Given the description of an element on the screen output the (x, y) to click on. 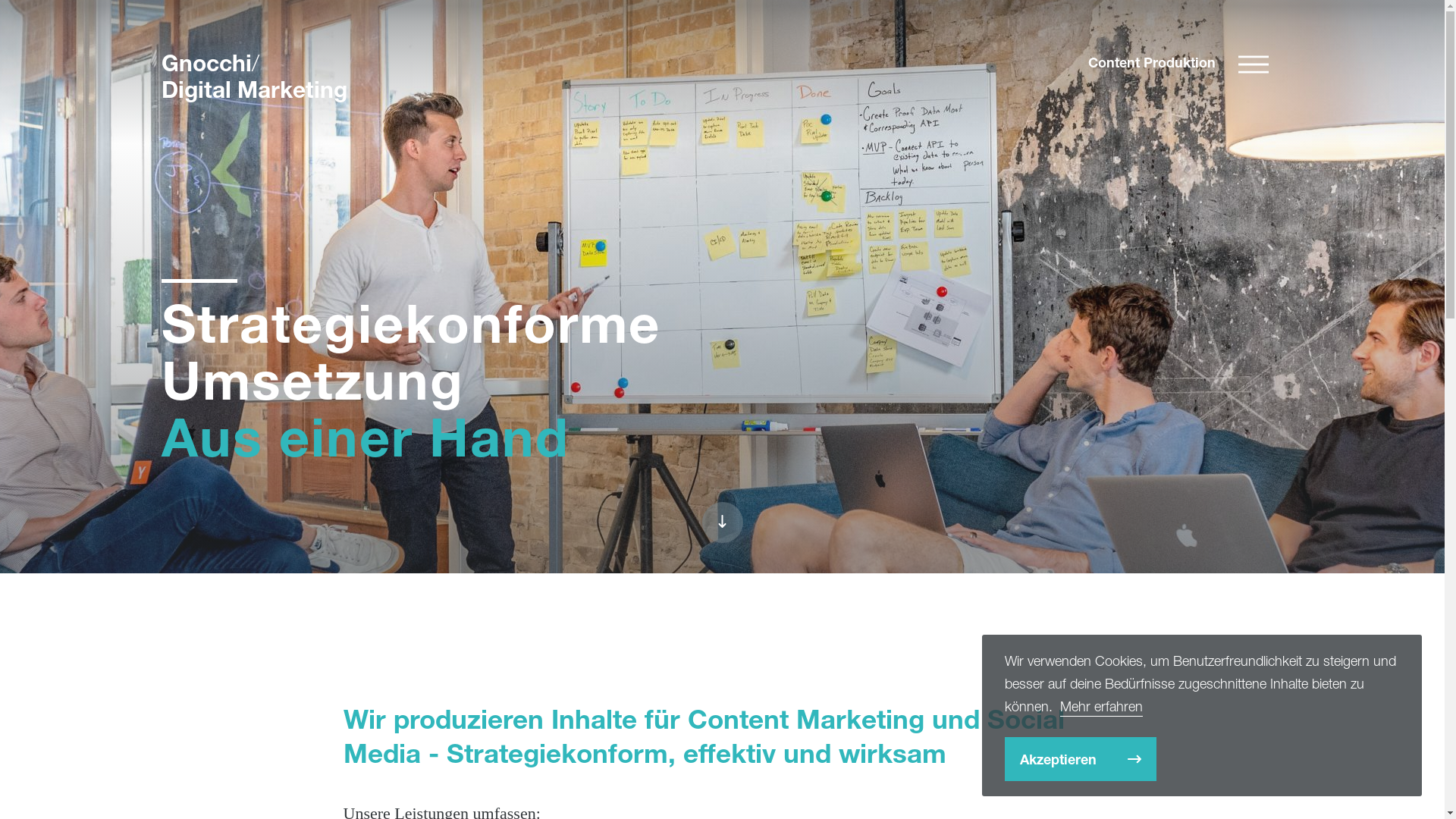
Gnocchi/
Digital Marketing Element type: text (253, 76)
Mehr erfahren Element type: text (1101, 706)
Akzeptieren Element type: text (1080, 759)
